Given the description of an element on the screen output the (x, y) to click on. 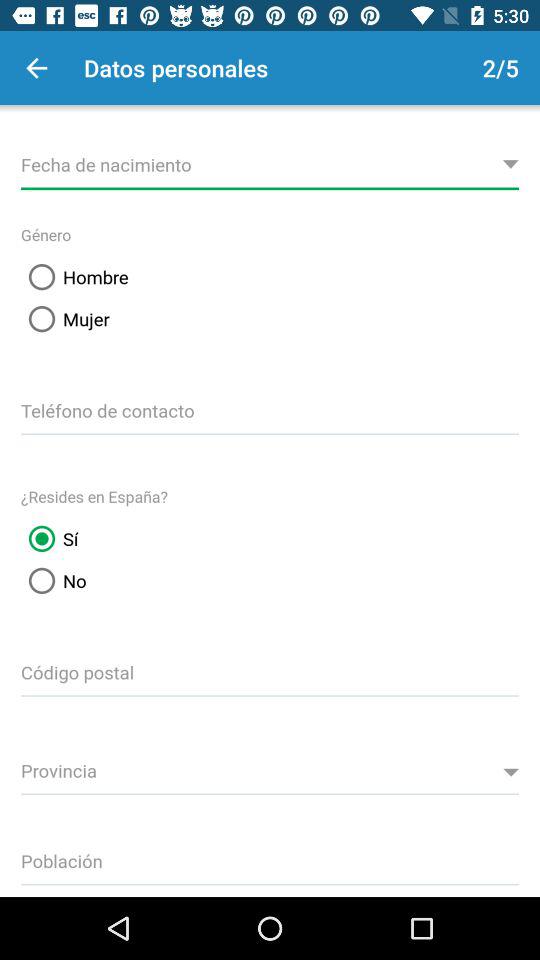
input postal code (270, 669)
